Given the description of an element on the screen output the (x, y) to click on. 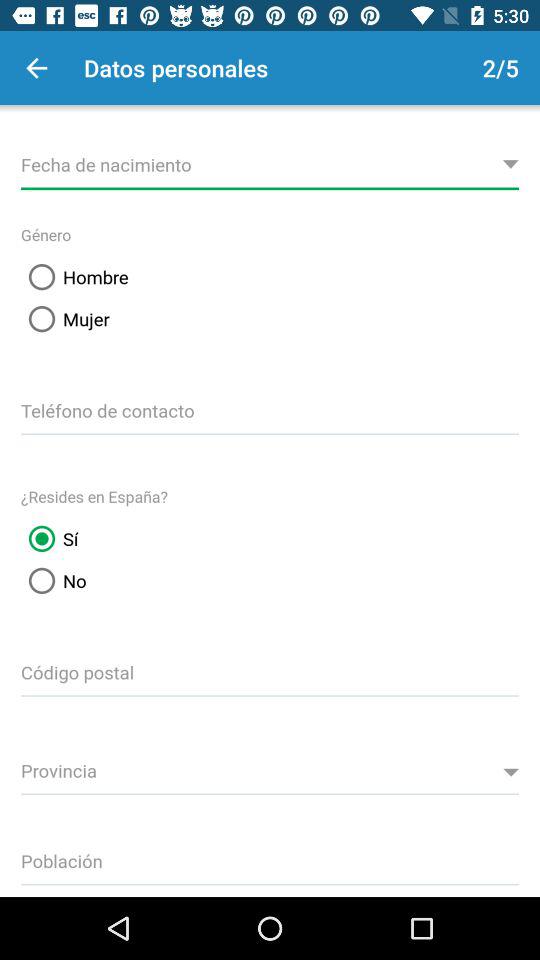
input postal code (270, 669)
